Given the description of an element on the screen output the (x, y) to click on. 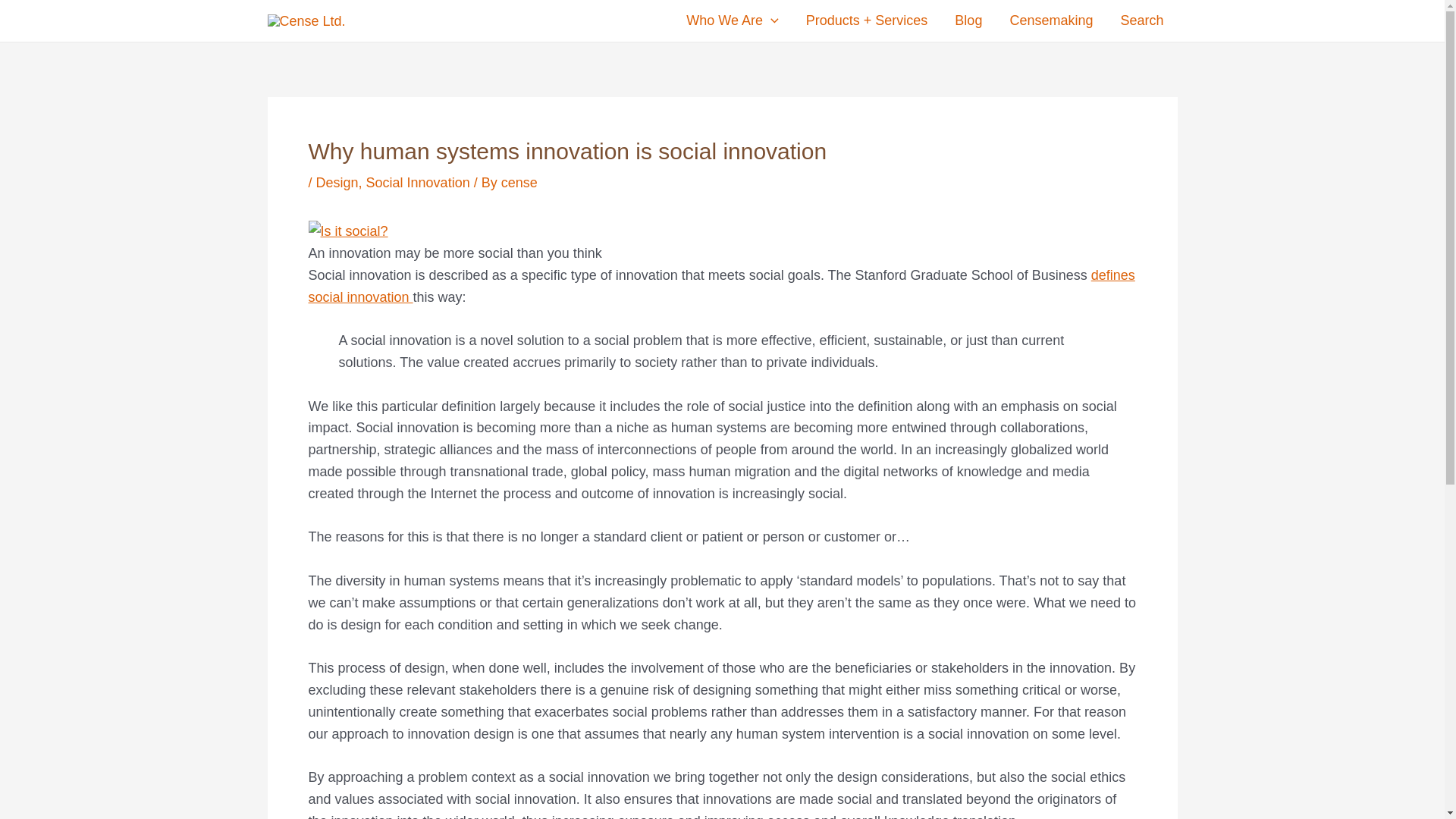
cense (518, 182)
Ideas, Innovations, Tools, and Tips (967, 20)
Search (1141, 20)
Blog (967, 20)
Social Innovation (418, 182)
Who We Are (732, 20)
defines social innovation (720, 285)
View all posts by cense (518, 182)
Design (336, 182)
Your Innovation Coffeehouse (1050, 20)
Censemaking (1050, 20)
